Given the description of an element on the screen output the (x, y) to click on. 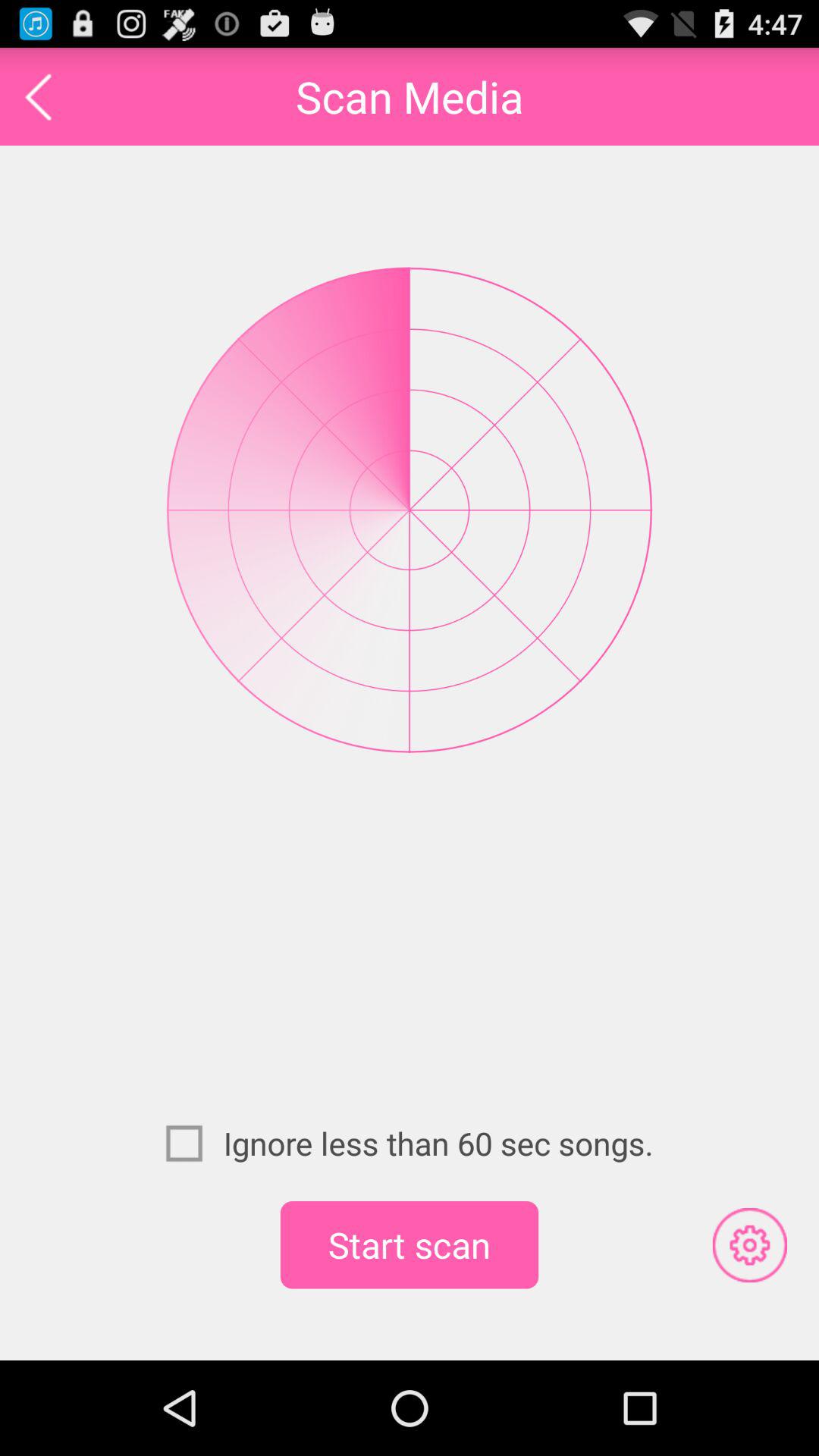
turn off icon at the top left corner (38, 96)
